Given the description of an element on the screen output the (x, y) to click on. 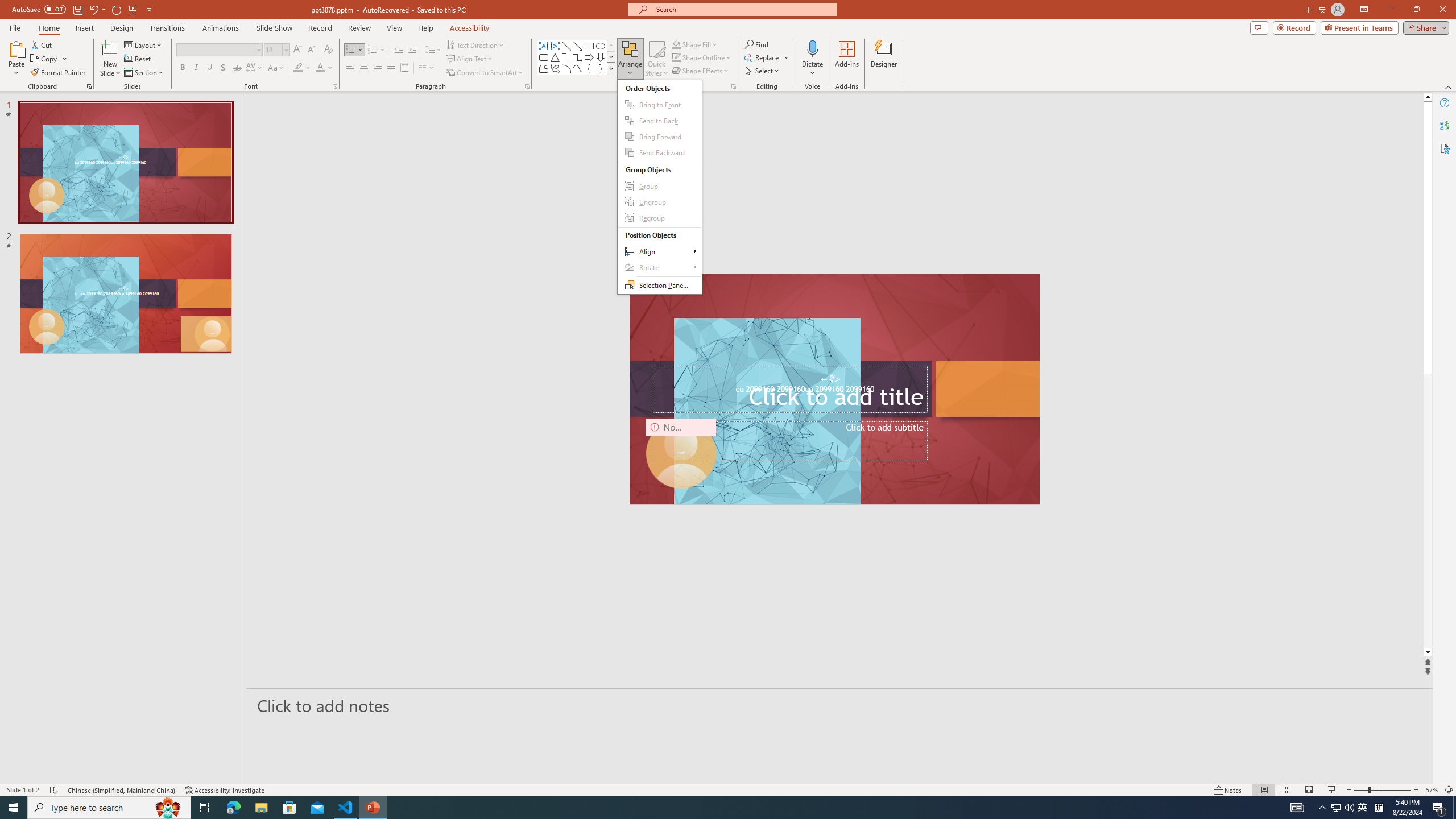
Shape Fill Dark Green, Accent 2 (675, 44)
Shape Fill (694, 44)
